Given the description of an element on the screen output the (x, y) to click on. 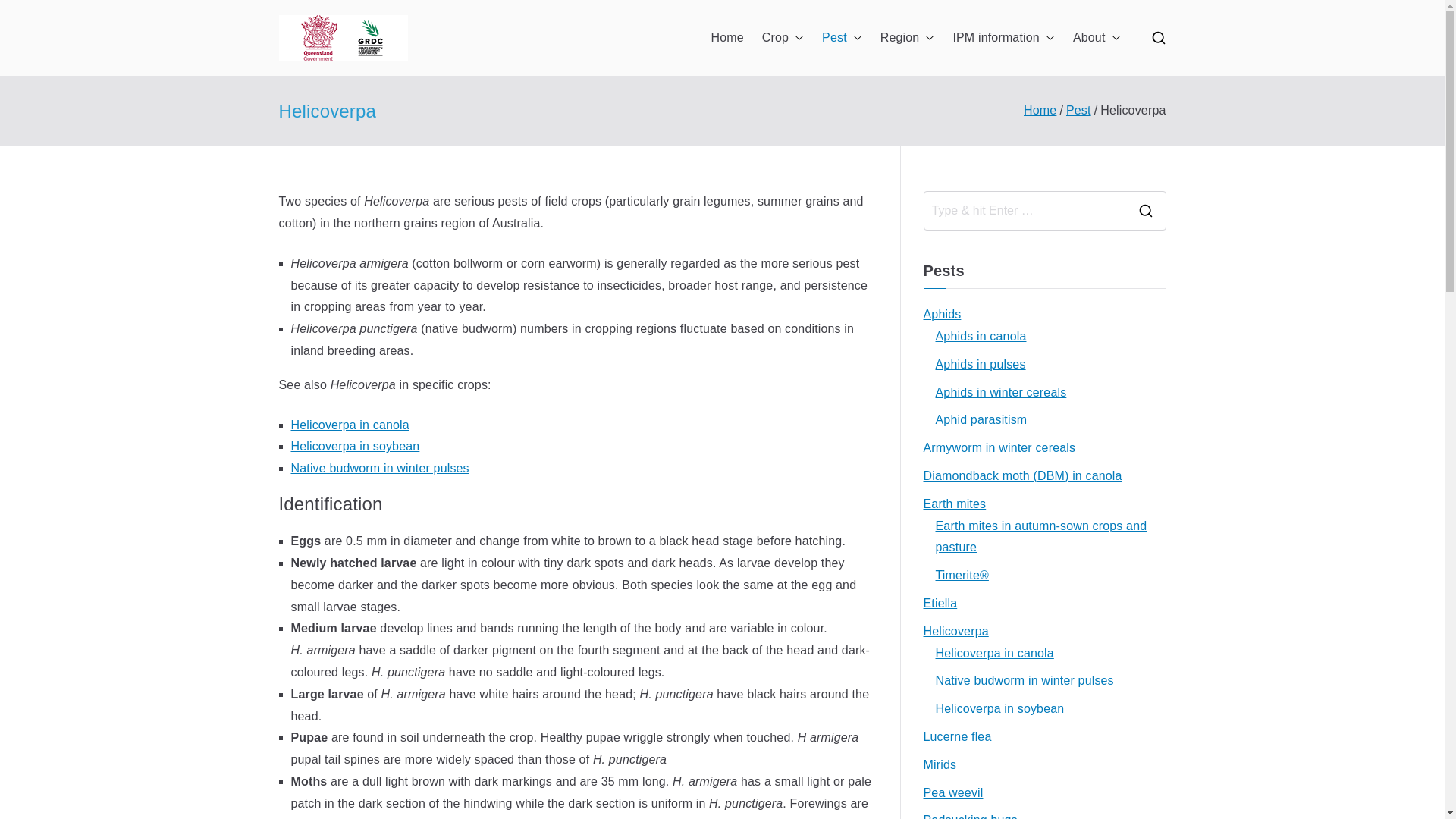
Region (907, 38)
Crop (782, 38)
Search for: (1024, 210)
IPM Guidelines For Grains (514, 48)
Helicoverpa in soybean (355, 445)
Pest (841, 38)
Home (726, 38)
